Given the description of an element on the screen output the (x, y) to click on. 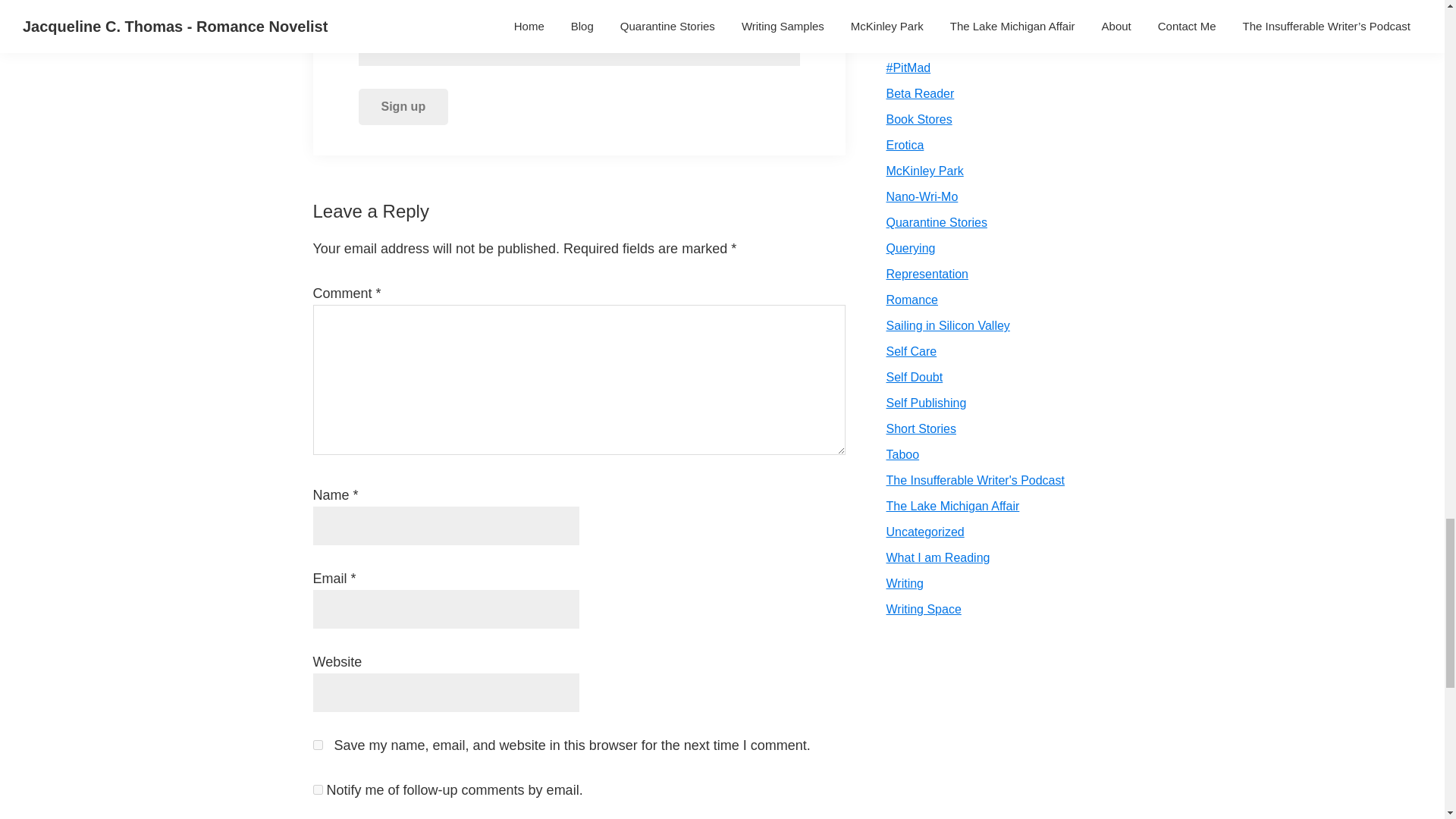
Sign up (403, 106)
subscribe (317, 789)
Sign up (403, 106)
yes (317, 745)
